Given the description of an element on the screen output the (x, y) to click on. 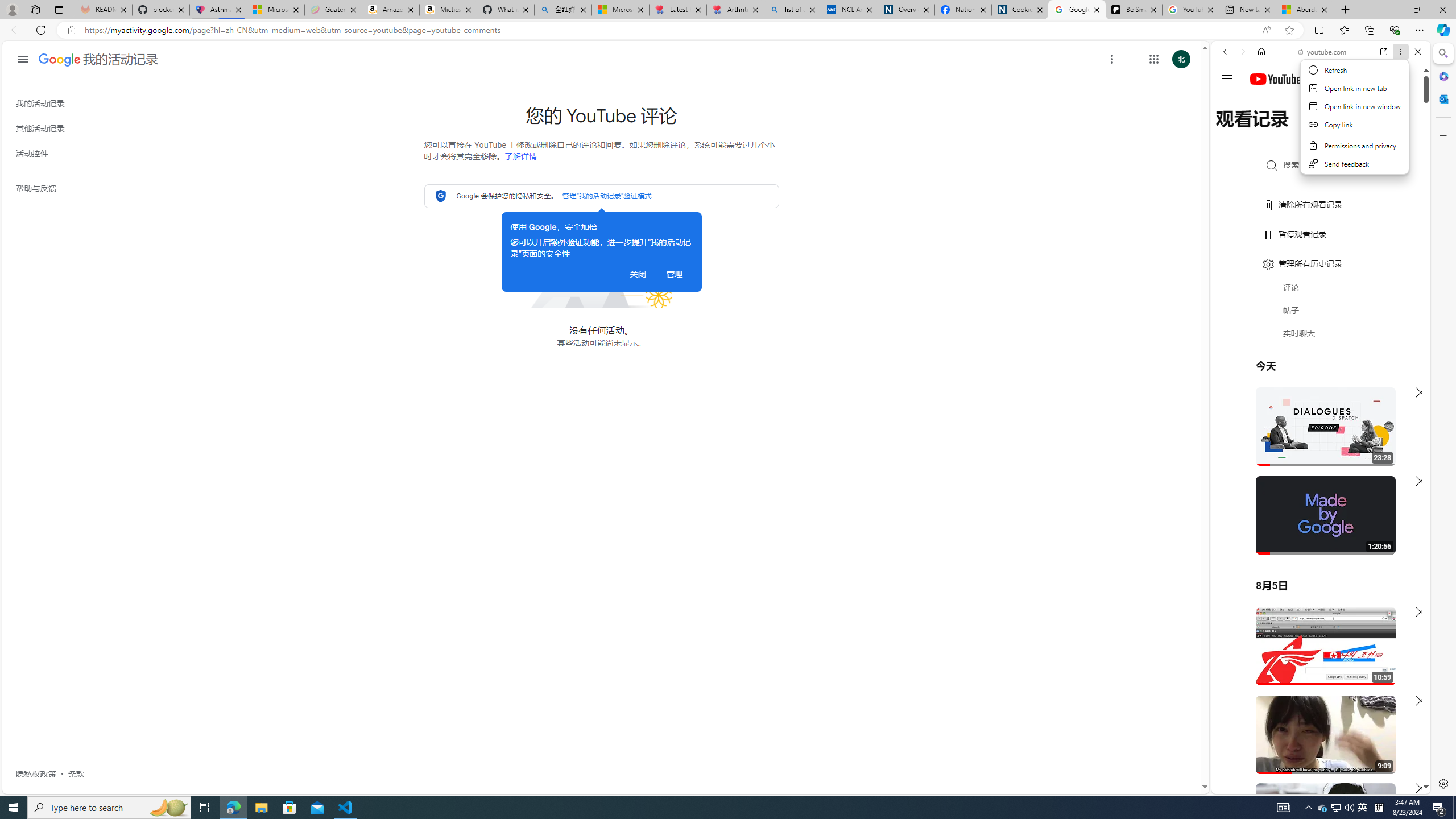
youtube.com (1322, 51)
IMAGES (1262, 130)
Open link in new window (1354, 106)
you (1315, 755)
YouTube - YouTube (1315, 560)
